Given the description of an element on the screen output the (x, y) to click on. 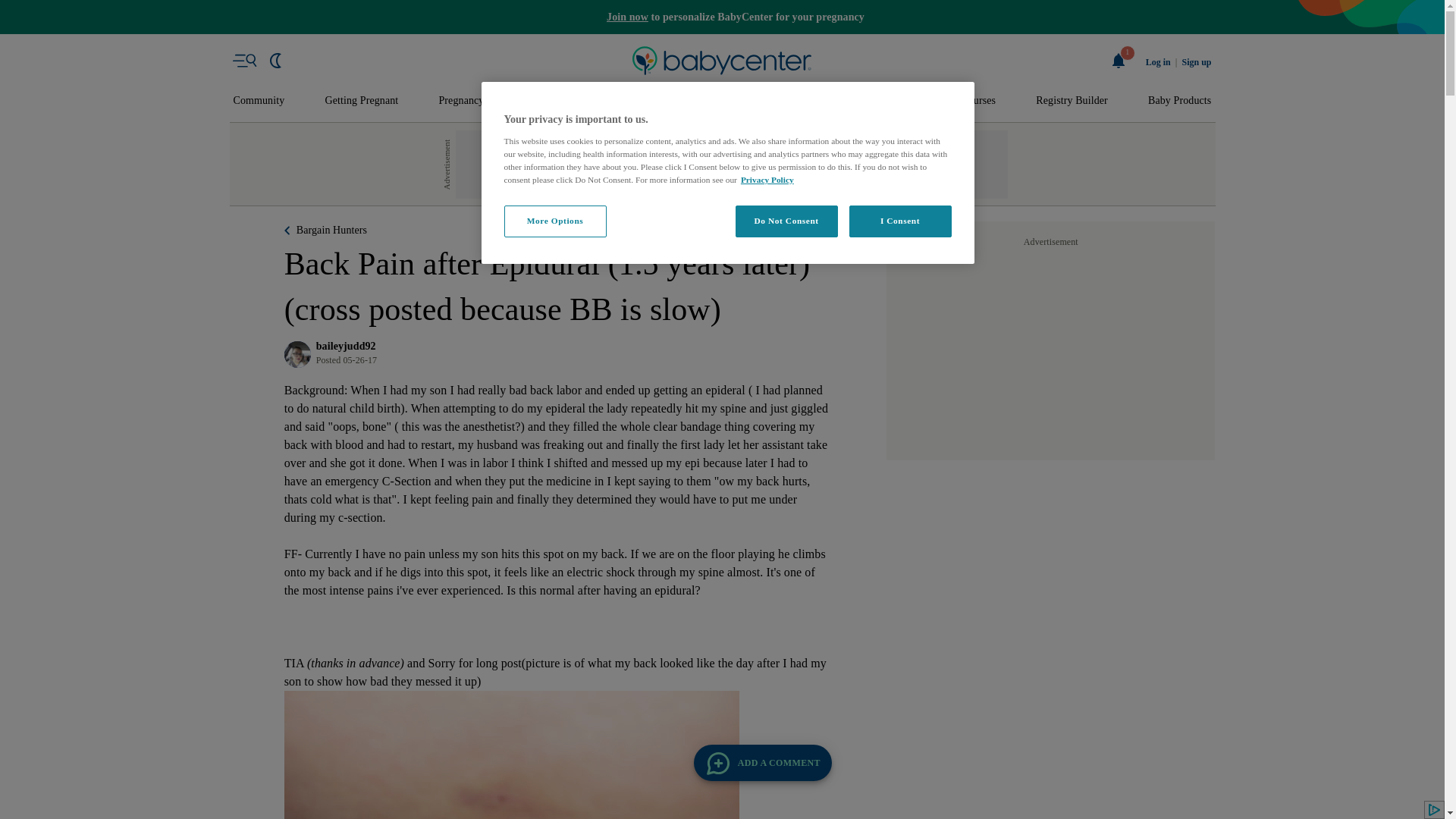
Getting Pregnant (360, 101)
Baby Names (551, 101)
Pregnancy (460, 101)
Family (904, 101)
Courses (977, 101)
Baby (631, 101)
Log in (1157, 61)
Child (768, 101)
Registry Builder (1071, 101)
Community (258, 101)
1 (1118, 60)
Sign up (1195, 61)
Health (835, 101)
Toddler (699, 101)
Baby Products (1179, 101)
